Given the description of an element on the screen output the (x, y) to click on. 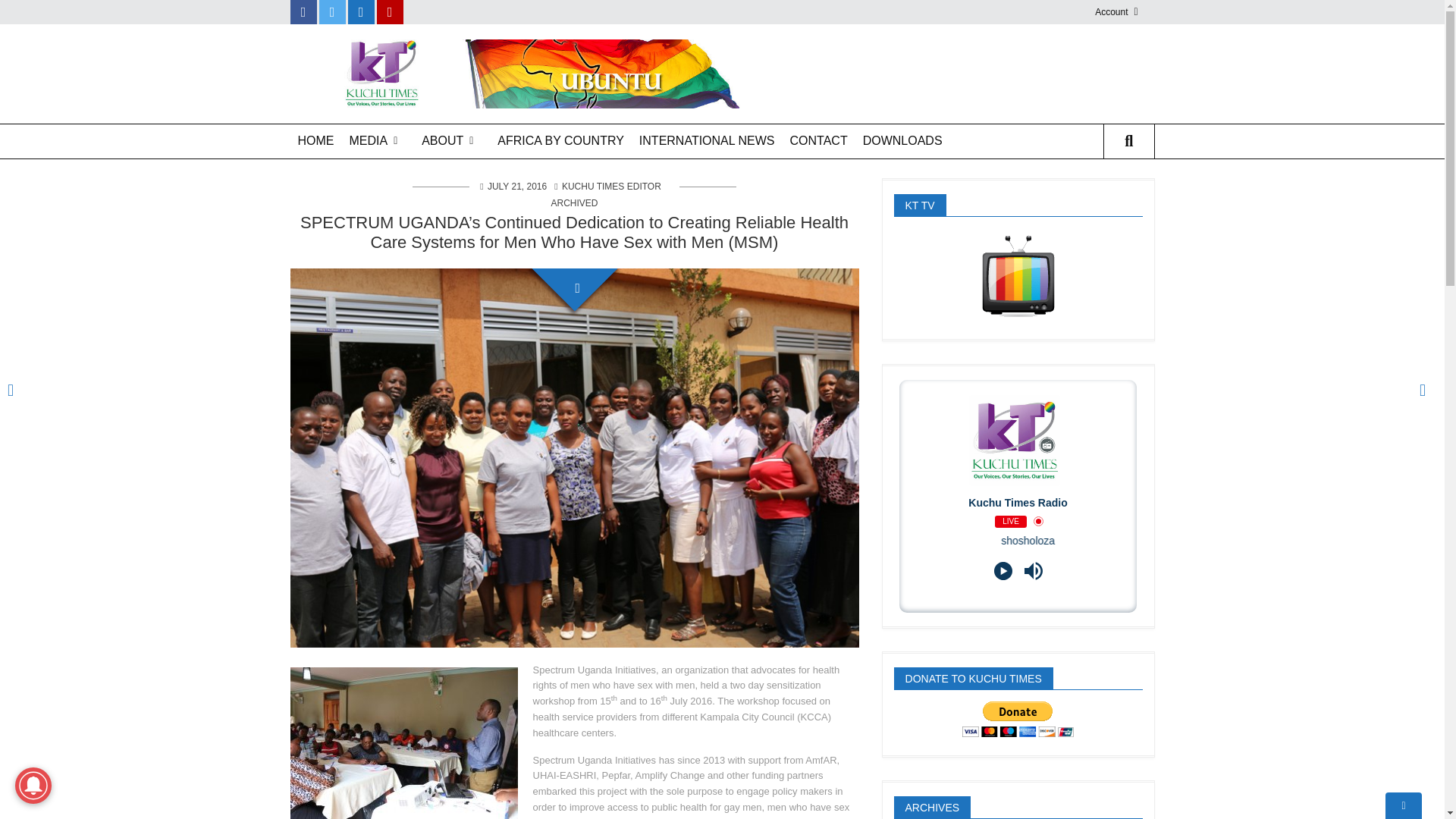
Radio (397, 203)
About Us (470, 177)
Twitter (331, 12)
Instagram (360, 12)
Kuchu Times (516, 72)
Events (470, 229)
Account (1124, 12)
Facebook (302, 12)
Gallery (397, 229)
ABOUT (451, 141)
